Given the description of an element on the screen output the (x, y) to click on. 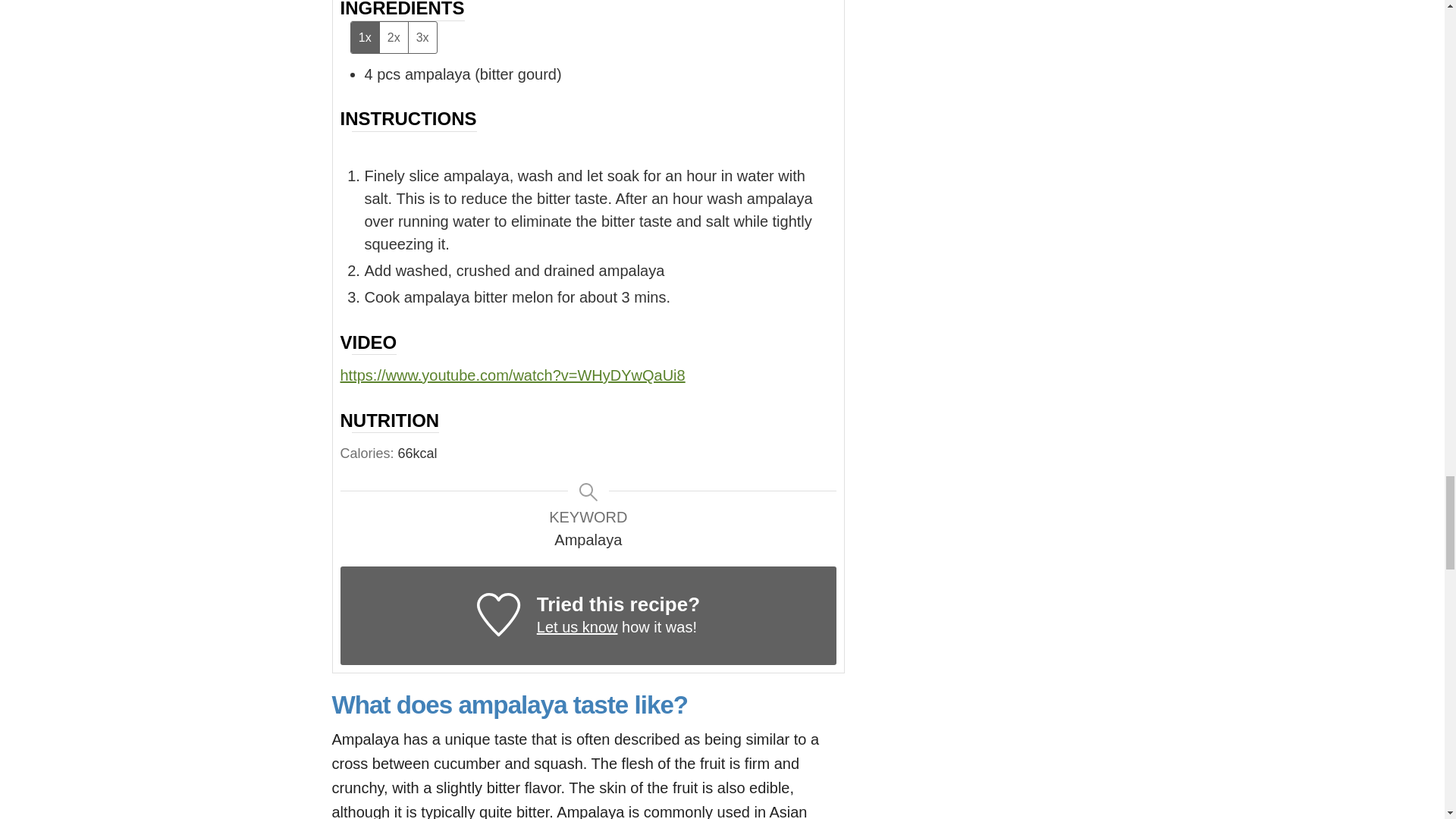
3x (421, 36)
1x (364, 36)
2x (392, 36)
